Given the description of an element on the screen output the (x, y) to click on. 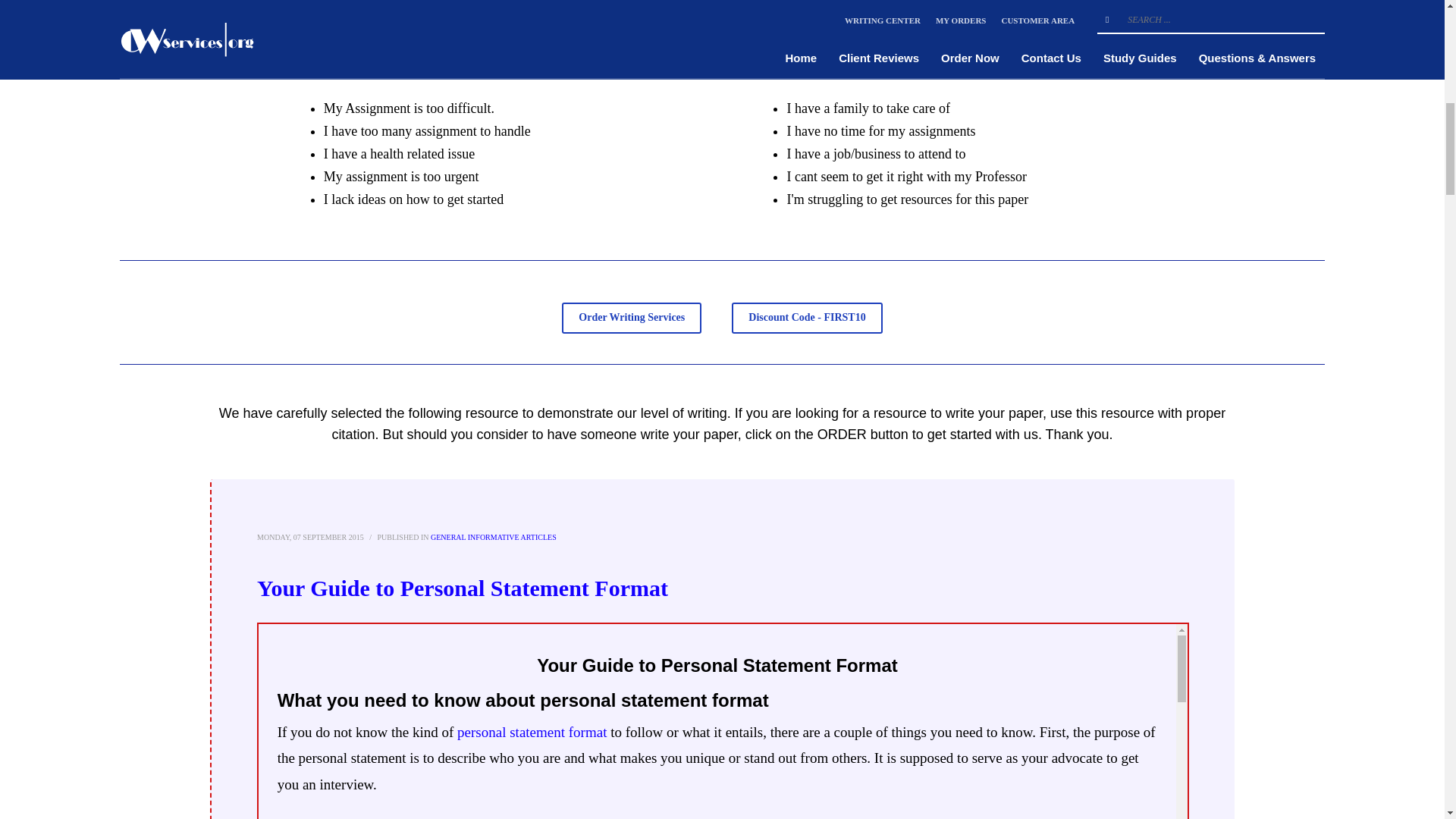
Discount Code - FIRST10 (807, 317)
personal statement format (532, 731)
personal statement (481, 818)
GENERAL INFORMATIVE ARTICLES (493, 537)
Order Writing Services (631, 317)
